Given the description of an element on the screen output the (x, y) to click on. 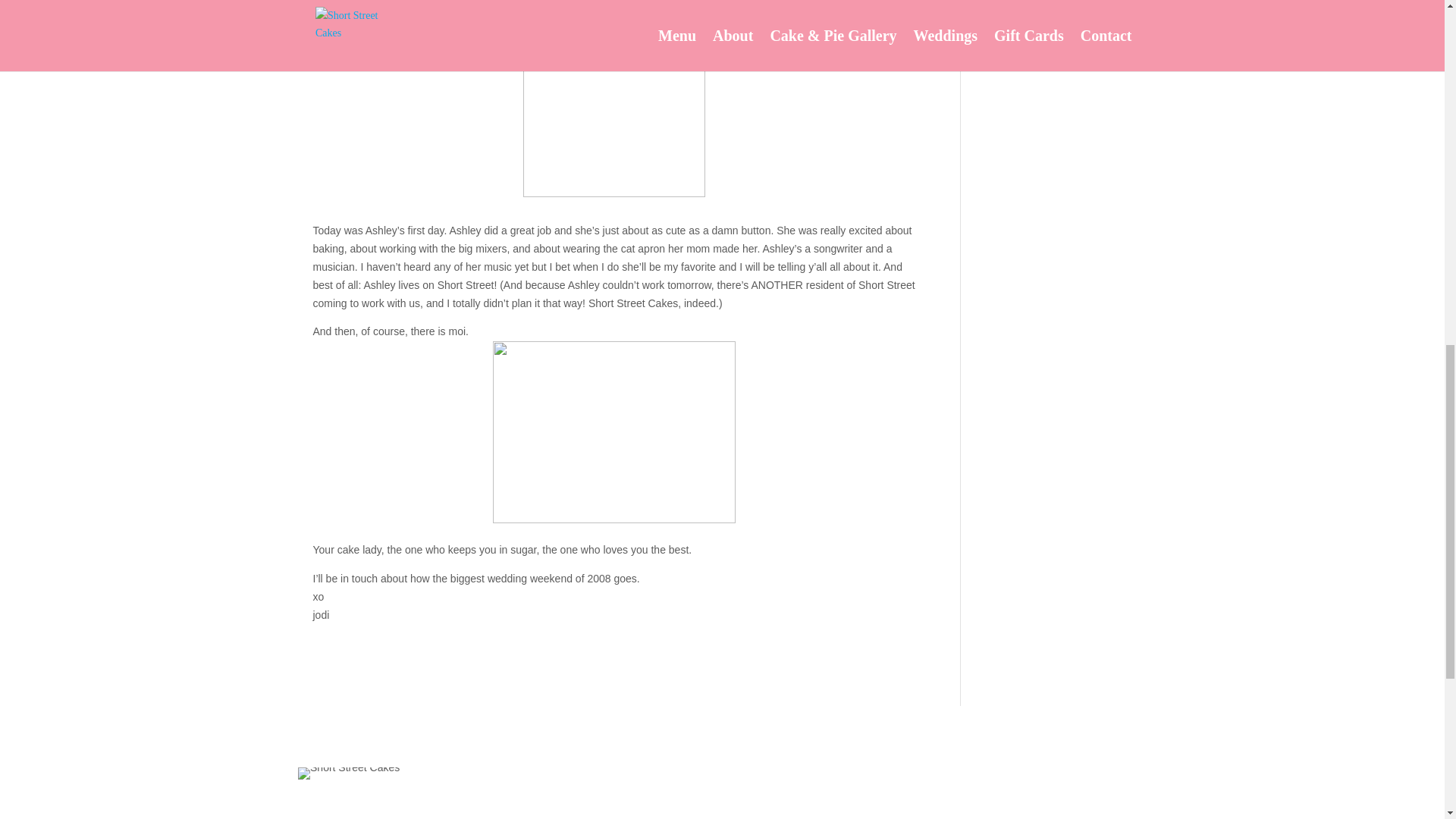
ShortStreetCakes-logo (348, 773)
